Given the description of an element on the screen output the (x, y) to click on. 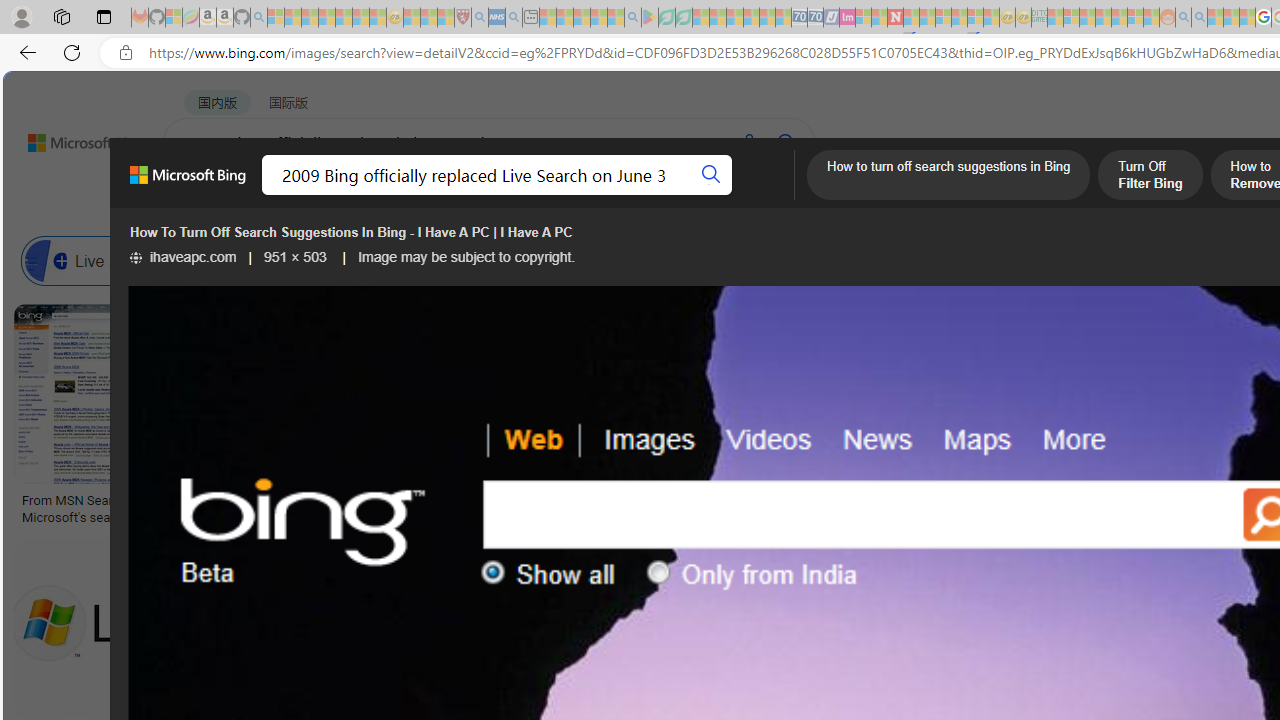
Trusted Community Engagement and Contributions | Guidelines (911, 17)
MSNBC - MSN - Sleeping (1055, 17)
WEB (201, 195)
Pets - MSN - Sleeping (598, 17)
Bing Logo Design Evolution 2009 to 2016 | Smithographic (1031, 507)
Jobs - lastminute.com Investor Portal - Sleeping (847, 17)
Microsoft-Report a Concern to Bing - Sleeping (173, 17)
DITOGAMES AG Imprint - Sleeping (1039, 17)
Expert Portfolios - Sleeping (1103, 17)
MY BING (276, 195)
